Given the description of an element on the screen output the (x, y) to click on. 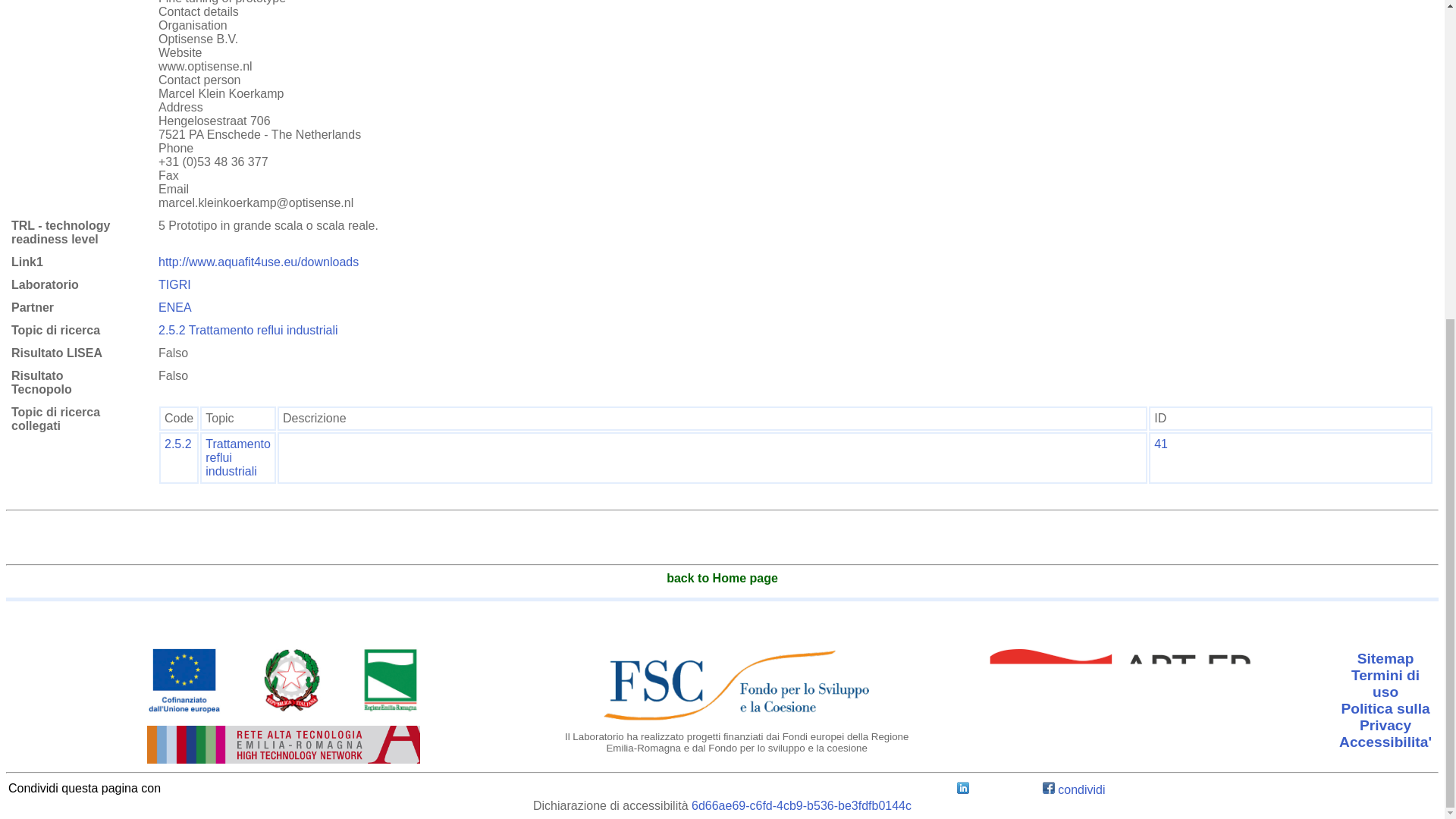
condividi (1073, 789)
TIGRI (174, 284)
Link to 'Sitemap'  (1384, 658)
Link to 'Accessibilita''  (1385, 742)
Sitemap (1384, 658)
Accessibilita' (1385, 742)
Click per ZOOM della riga (1160, 443)
Link to 'Politica sulla Privacy'  (1384, 717)
41 (1160, 443)
Trattamento reflui industriali (237, 457)
6d66ae69-c6fd-4cb9-b536-be3fdfb0144c (801, 805)
Politica sulla Privacy (1384, 717)
Home tecnopolo (721, 577)
